Given the description of an element on the screen output the (x, y) to click on. 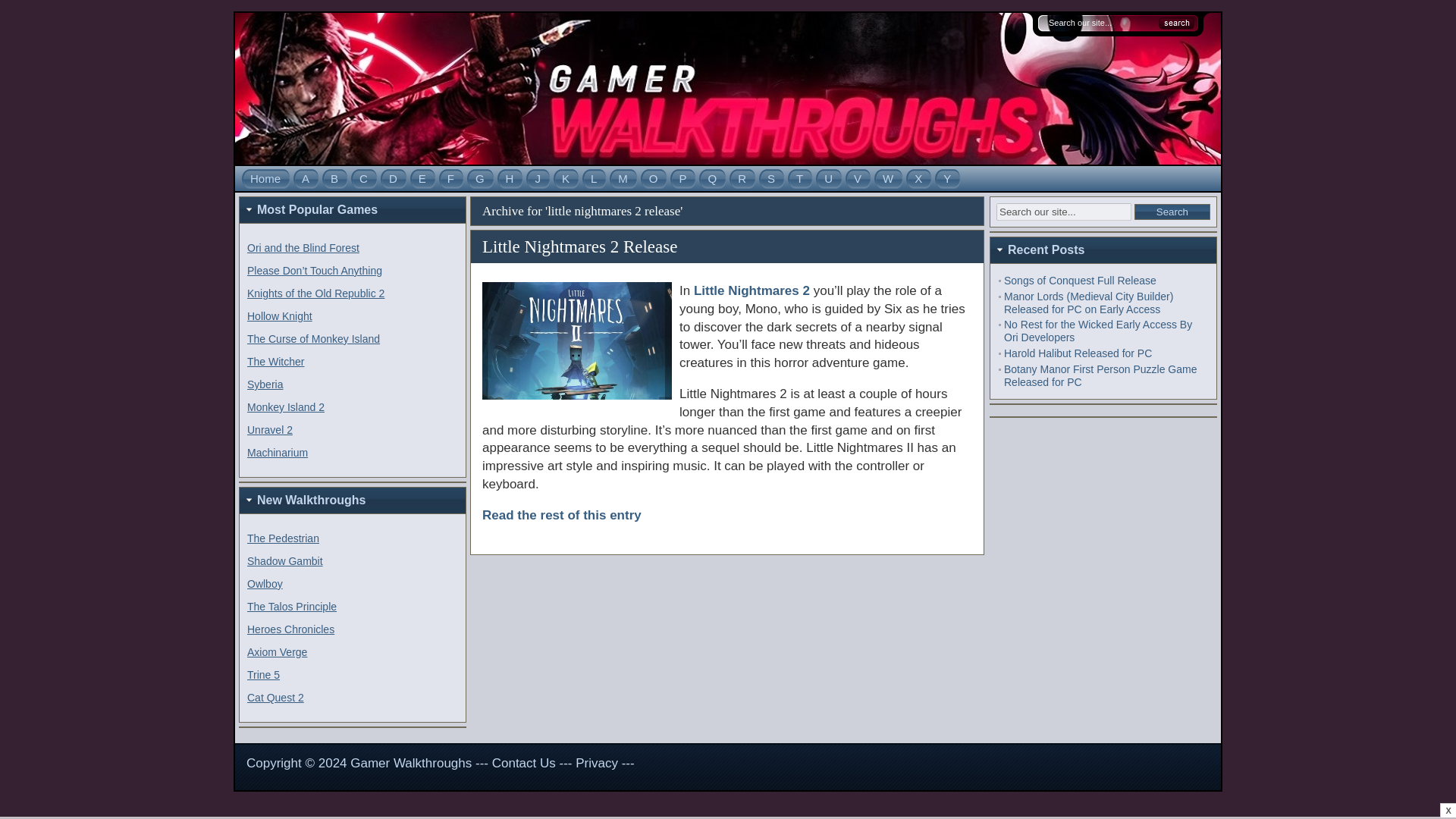
The Witcher (275, 361)
W (887, 178)
G (480, 178)
T (799, 178)
F (451, 178)
Monkey Island 2 (285, 407)
Permanent Link to Little Nightmares 2 Release (579, 246)
Hollow Knight (280, 316)
R (742, 178)
Search our site... (1063, 211)
